Given the description of an element on the screen output the (x, y) to click on. 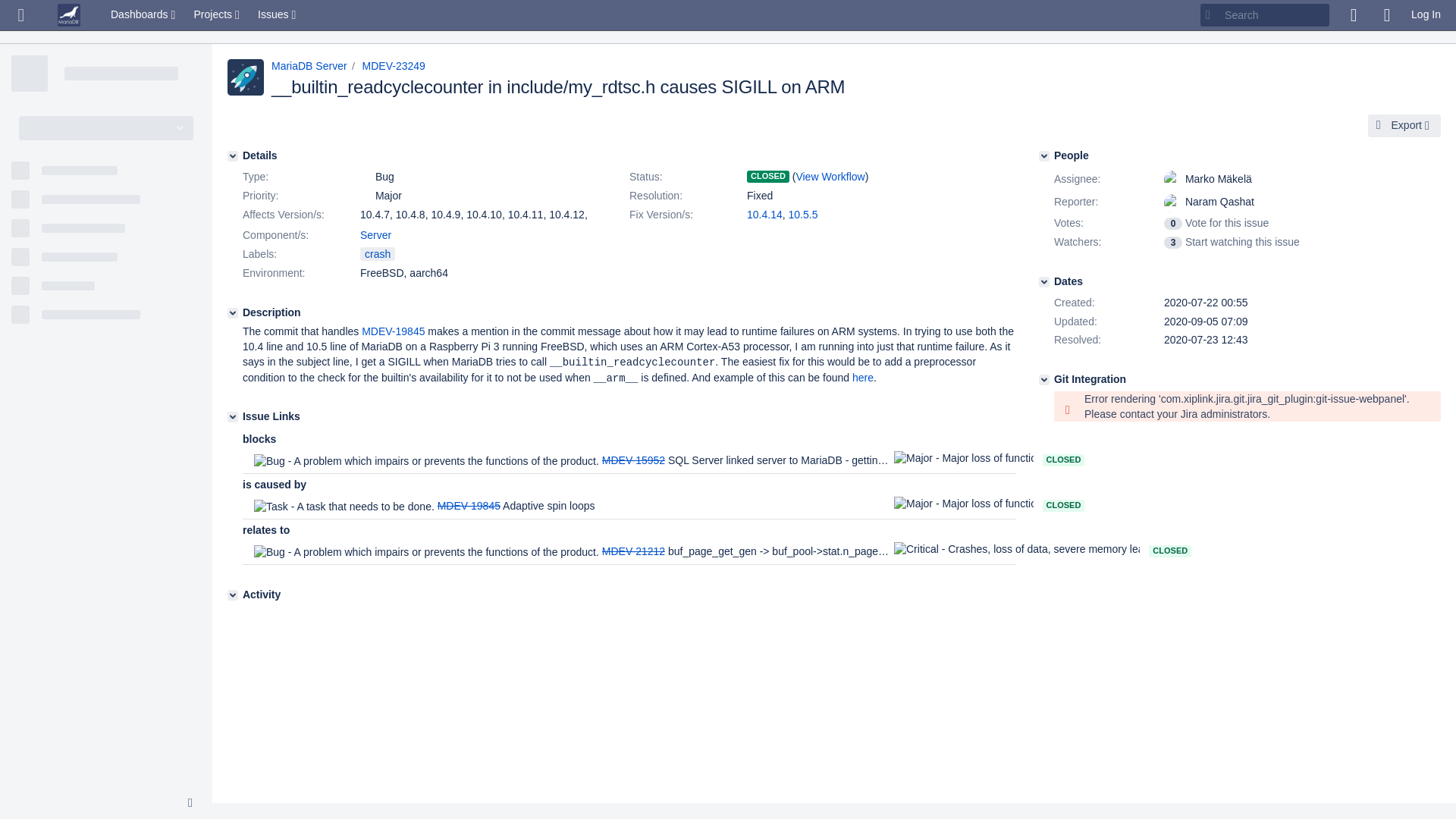
Status (685, 177)
Issues (277, 15)
Help (1386, 15)
here (862, 377)
Give feedback to Atlassian (1353, 15)
View recent projects and browse a list of projects (218, 15)
Help (1386, 15)
10.4.14 (764, 214)
MDEV-19845 (393, 331)
Server (375, 234)
